Given the description of an element on the screen output the (x, y) to click on. 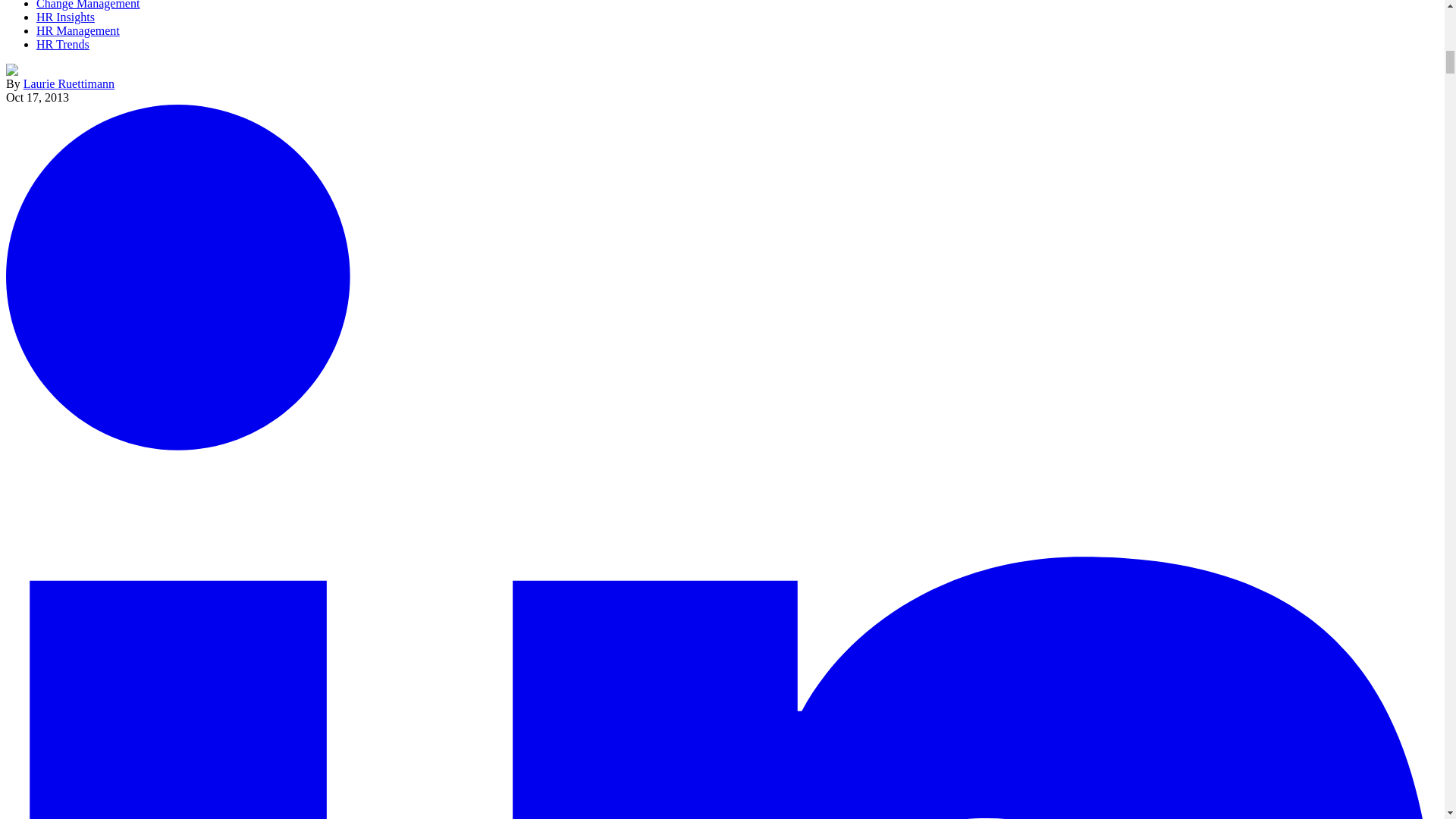
Change Management (87, 4)
HR Trends (62, 43)
HR Management (77, 30)
Laurie Ruettimann (69, 83)
HR Insights (65, 16)
